Given the description of an element on the screen output the (x, y) to click on. 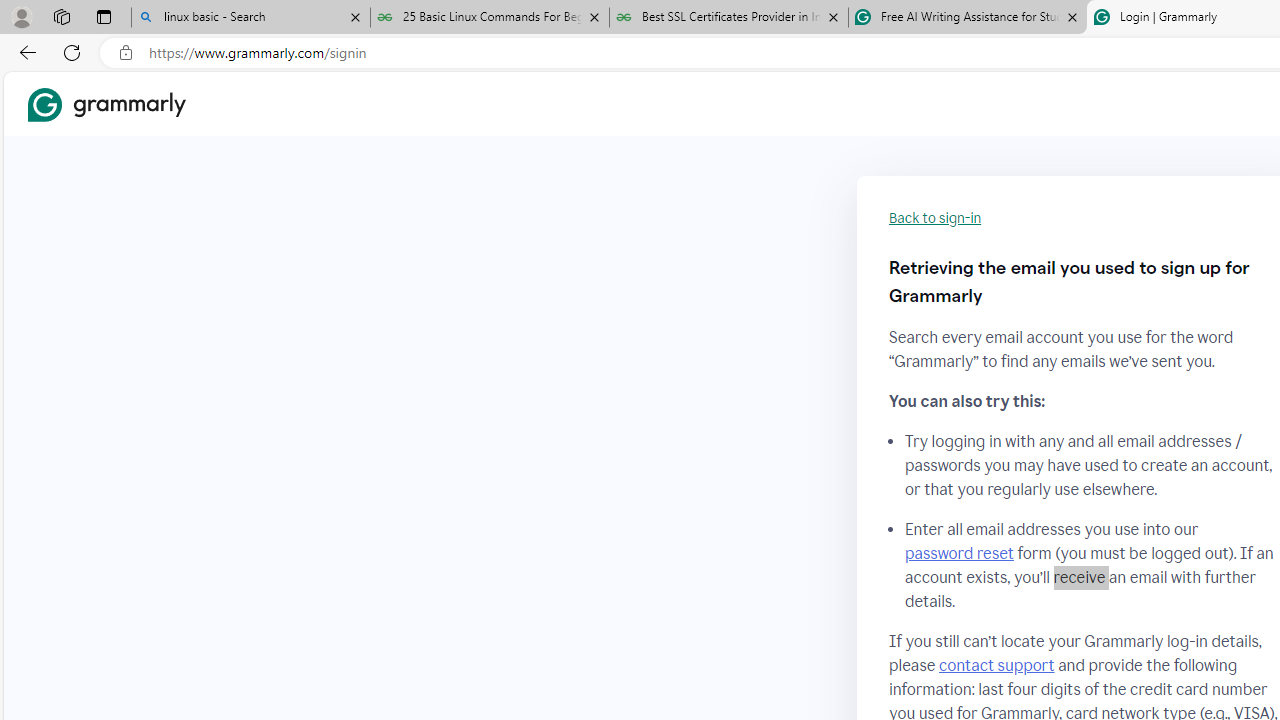
contact support (996, 665)
Grammarly Home (106, 103)
Grammarly Home (106, 104)
password reset (958, 553)
25 Basic Linux Commands For Beginners - GeeksforGeeks (490, 17)
Best SSL Certificates Provider in India - GeeksforGeeks (729, 17)
Free AI Writing Assistance for Students | Grammarly (967, 17)
linux basic - Search (250, 17)
